Given the description of an element on the screen output the (x, y) to click on. 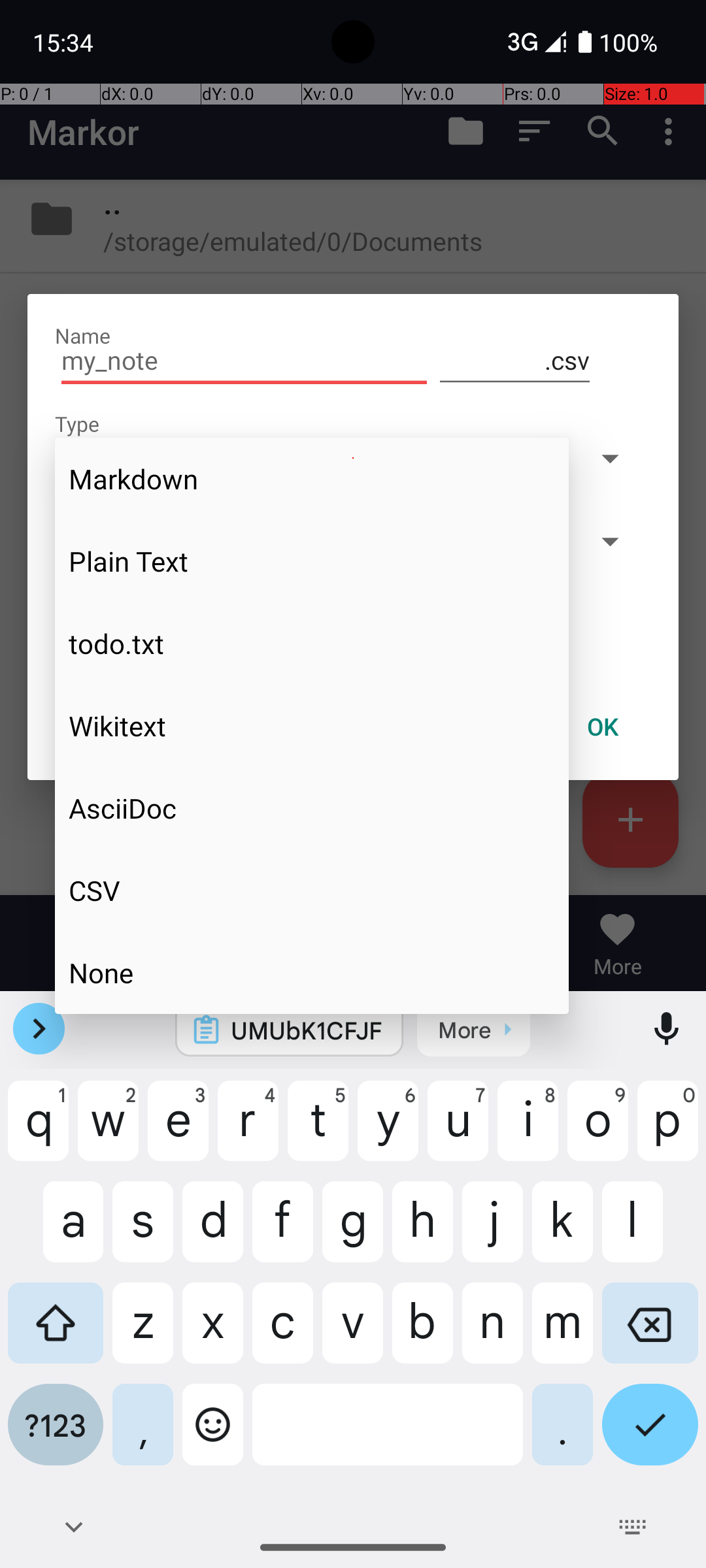
Plain Text Element type: android.widget.TextView (311, 561)
todo.txt Element type: android.widget.TextView (311, 643)
Wikitext Element type: android.widget.TextView (311, 725)
AsciiDoc Element type: android.widget.TextView (311, 808)
CSV Element type: android.widget.TextView (311, 890)
None Element type: android.widget.TextView (311, 972)
